Given the description of an element on the screen output the (x, y) to click on. 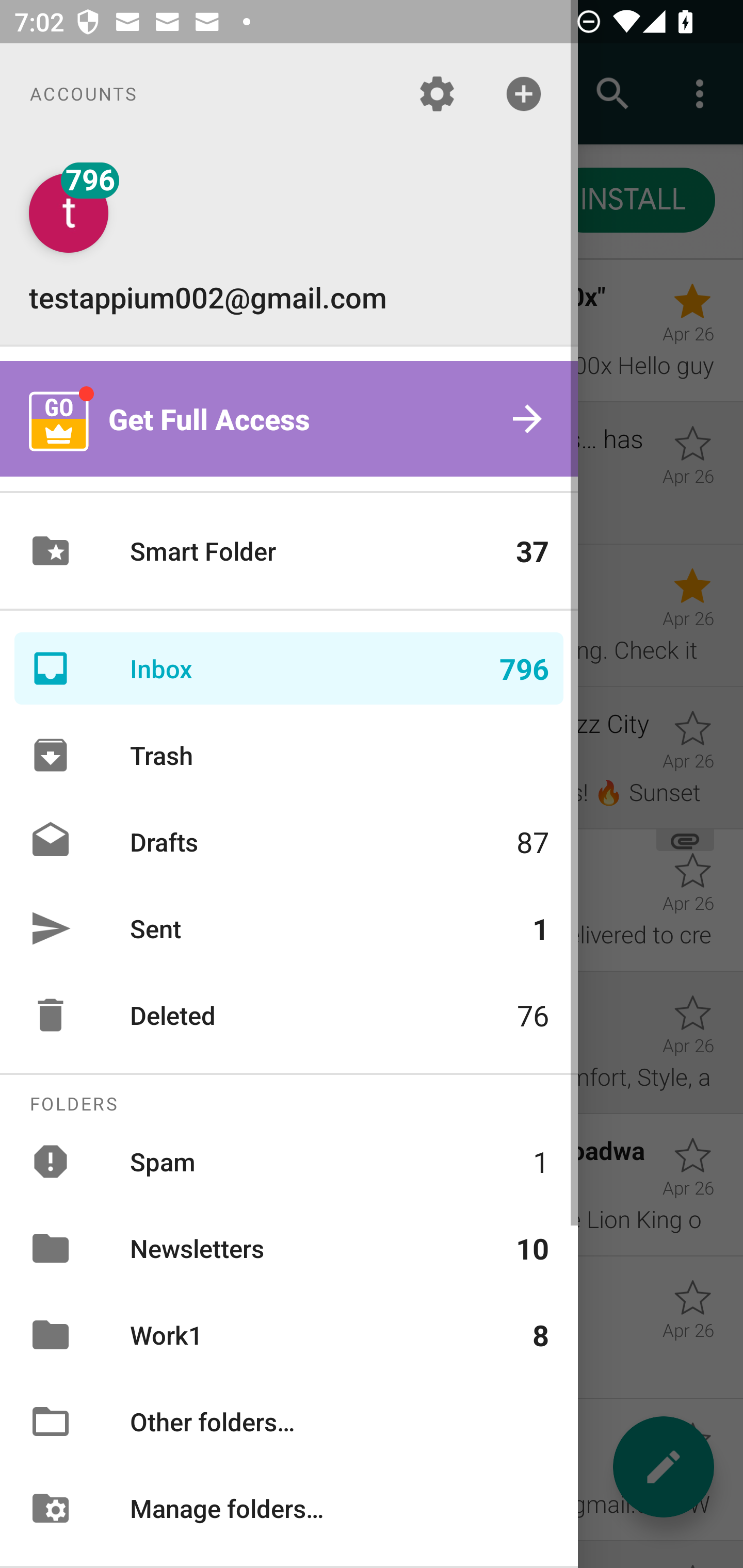
testappium002@gmail.com (289, 244)
Get Full Access (289, 418)
Smart Folder 37 (289, 551)
Inbox 796 (289, 668)
Trash (289, 754)
Drafts 87 (289, 841)
Sent 1 (289, 928)
Deleted 76 (289, 1015)
Spam 1 (289, 1160)
Newsletters 10 (289, 1248)
Work1 8 (289, 1335)
Other folders… (289, 1421)
Manage folders… (289, 1507)
